Given the description of an element on the screen output the (x, y) to click on. 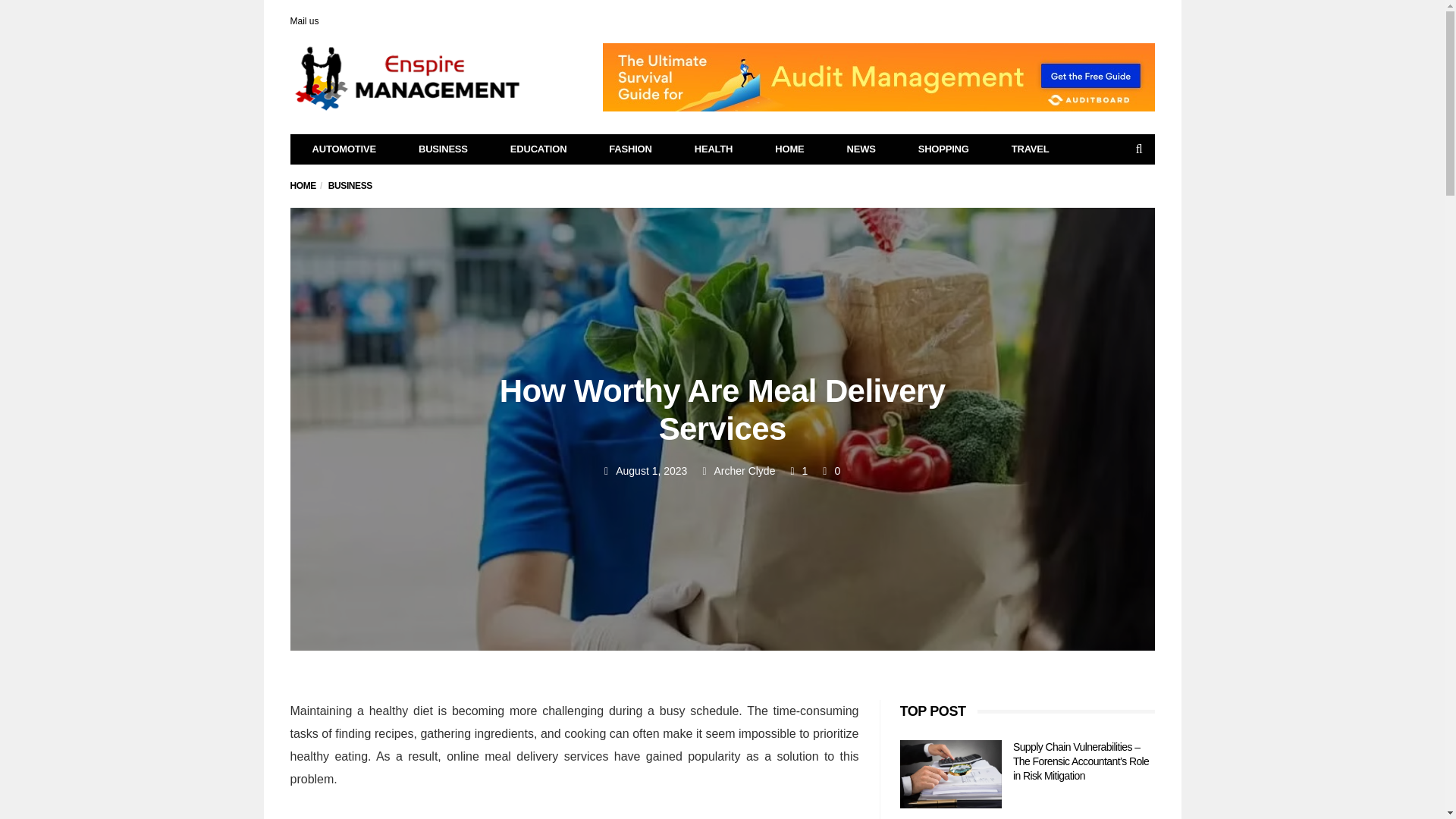
BUSINESS (350, 185)
AUTOMOTIVE (344, 149)
HEALTH (713, 149)
Archer Clyde (745, 470)
EDUCATION (538, 149)
Mail us (303, 20)
HOME (789, 149)
FASHION (630, 149)
BUSINESS (443, 149)
NEWS (860, 149)
